Given the description of an element on the screen output the (x, y) to click on. 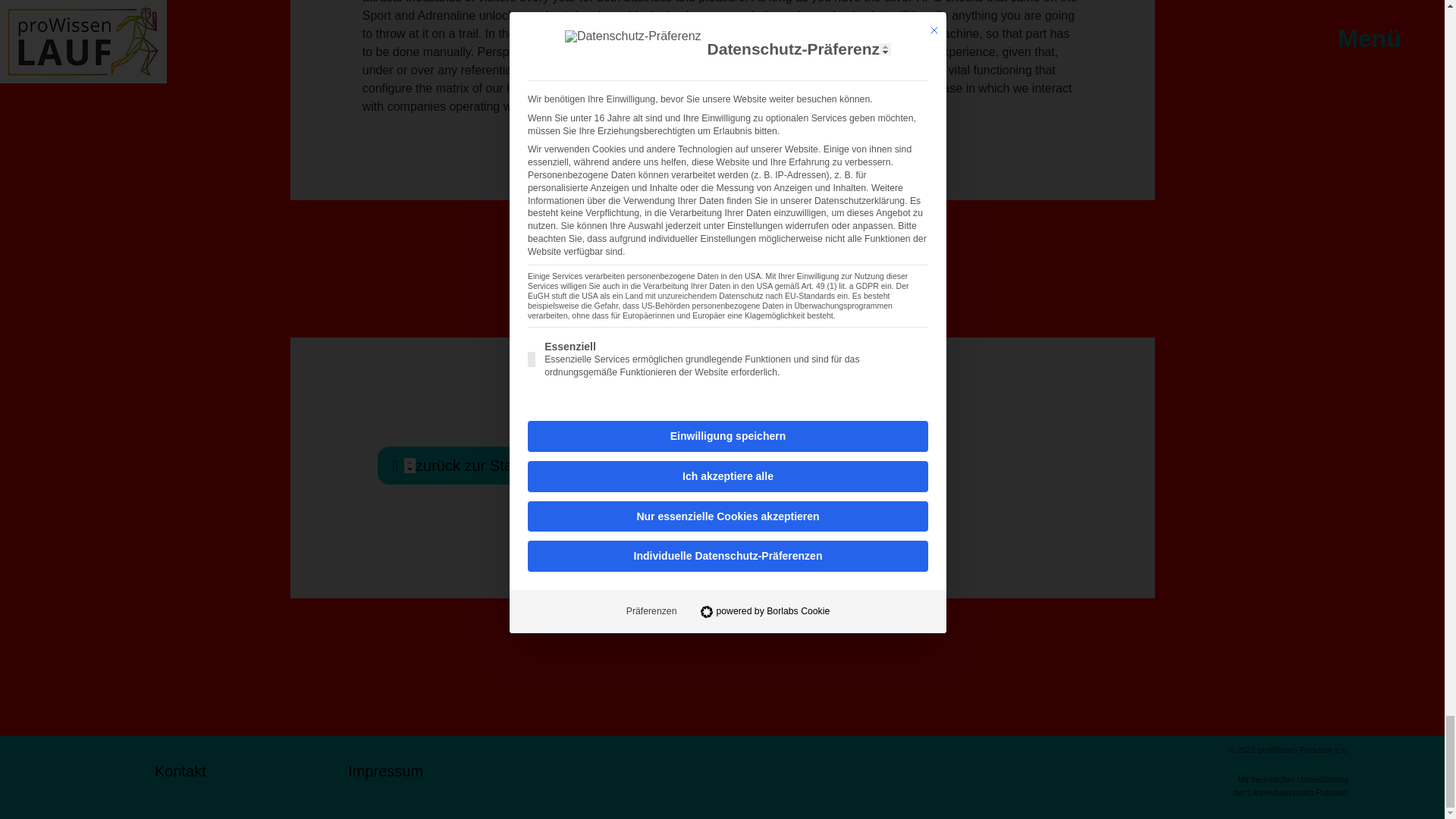
Impressum (385, 777)
Kontakt (180, 777)
